Given the description of an element on the screen output the (x, y) to click on. 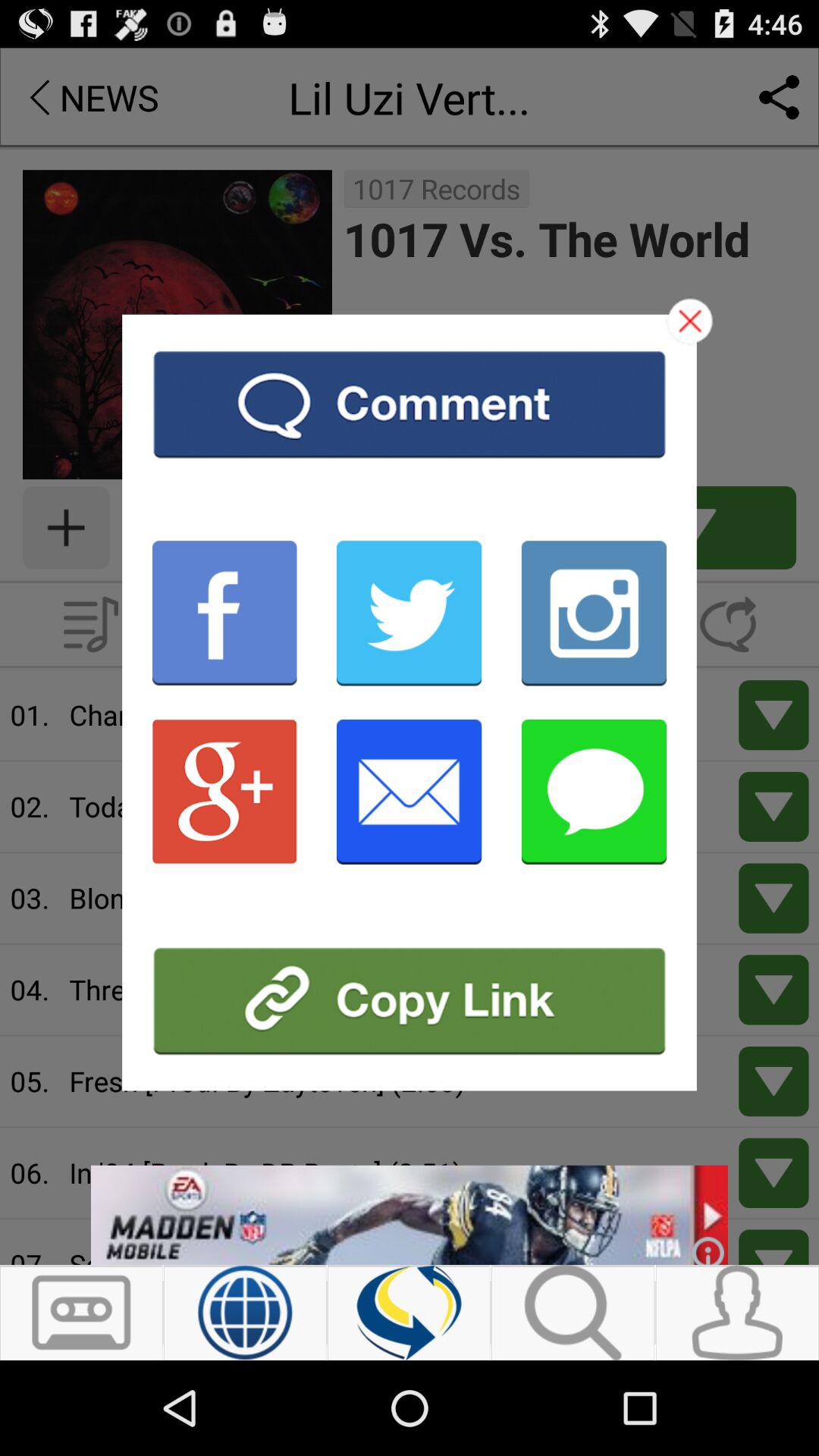
go to facebook option (224, 612)
